Given the description of an element on the screen output the (x, y) to click on. 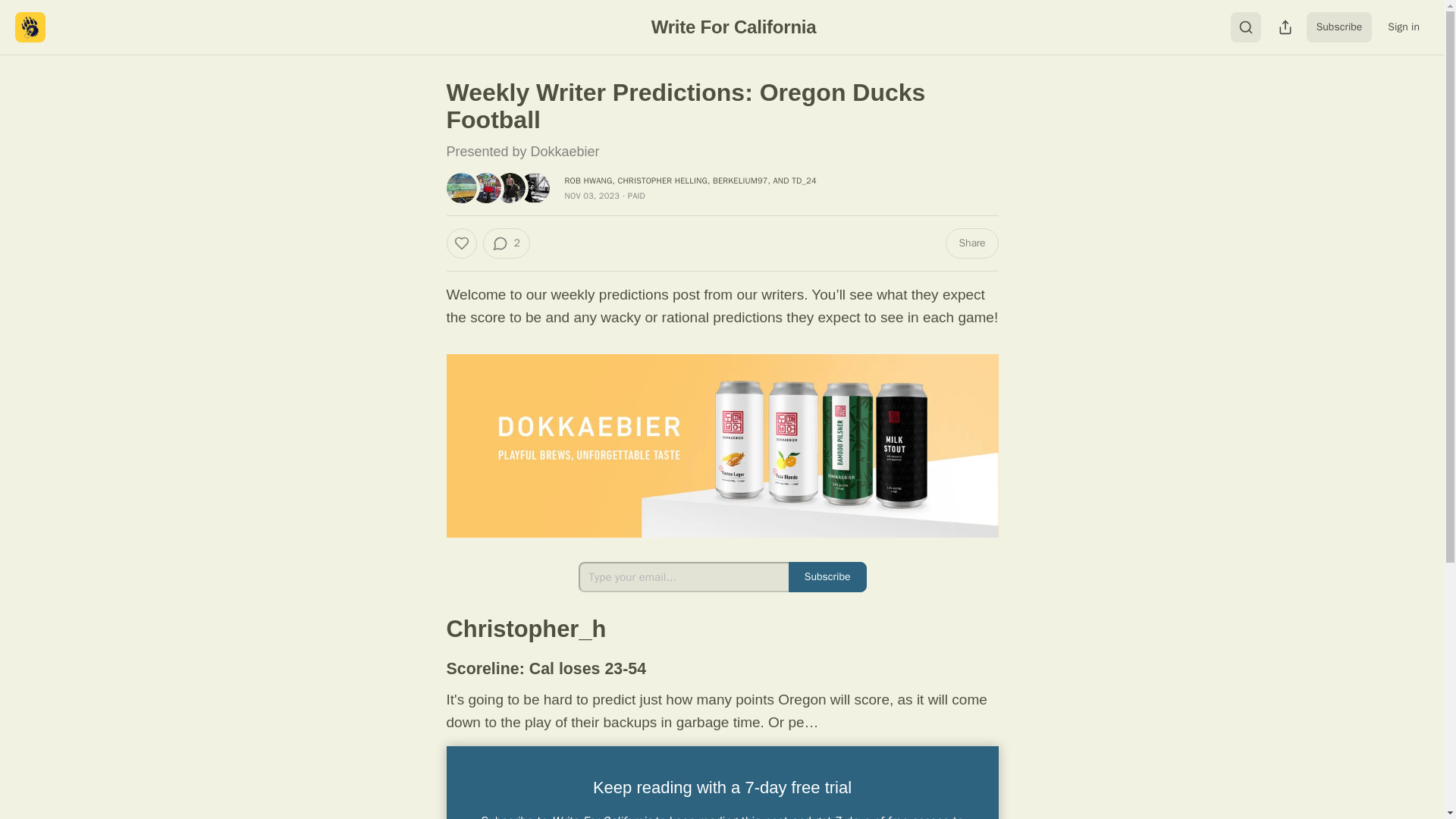
2 (505, 243)
Sign in (1403, 27)
Write For California (733, 26)
ROB HWANG (587, 180)
Share (970, 243)
Subscribe (1339, 27)
CHRISTOPHER HELLING (662, 180)
BERKELIUM97 (740, 180)
Subscribe (827, 576)
